Given the description of an element on the screen output the (x, y) to click on. 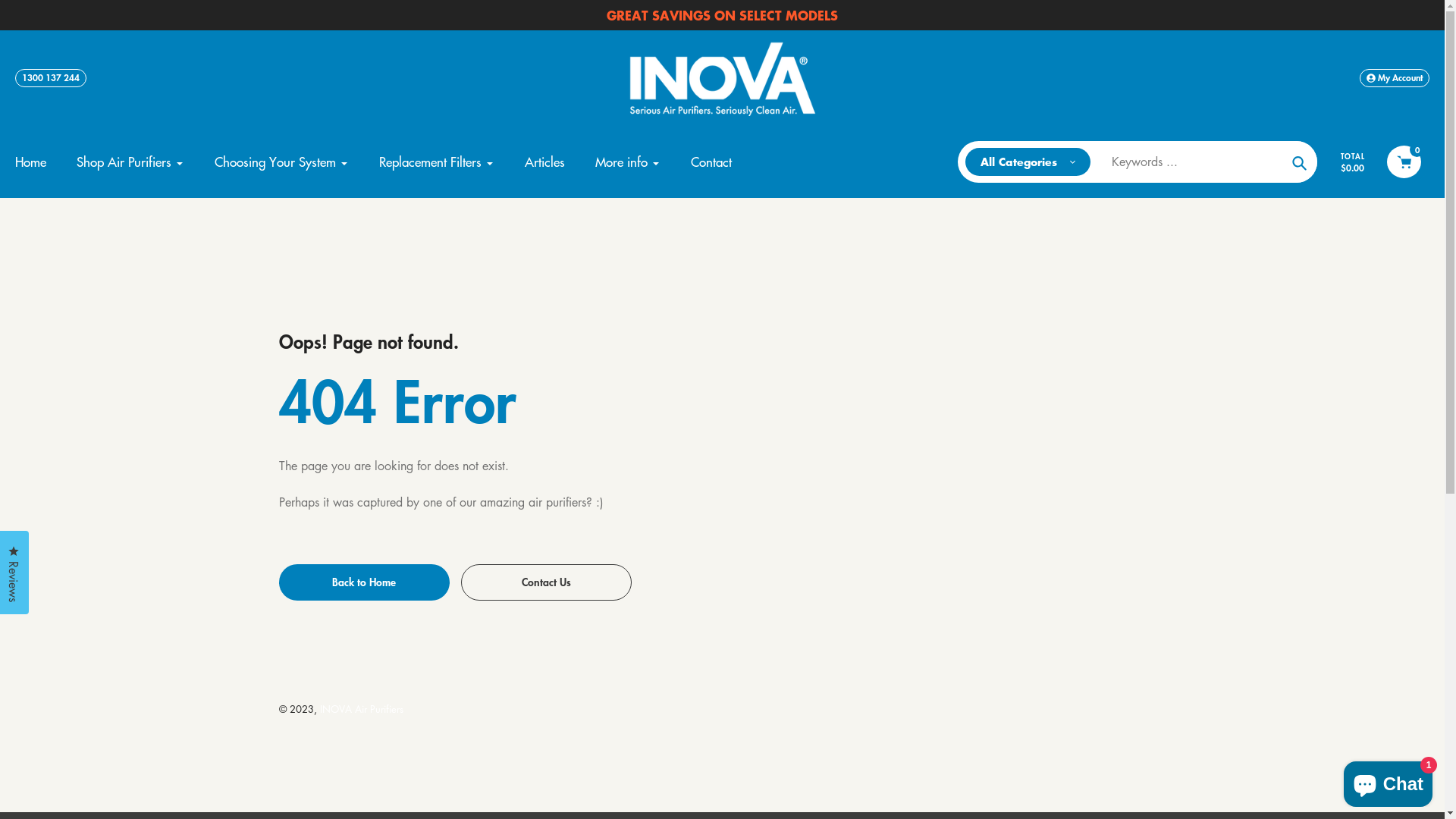
Search Element type: text (1299, 161)
Choosing Your System Element type: text (281, 162)
More info Element type: text (627, 162)
Home Element type: text (30, 162)
Replacement Filters Element type: text (436, 162)
Shopify online store chat Element type: hover (1388, 780)
Contact Element type: text (710, 162)
Back to Home Element type: text (364, 582)
0 Element type: text (1403, 161)
Shop Air Purifiers Element type: text (130, 162)
Articles Element type: text (544, 162)
All Categories Element type: text (1027, 161)
1300 137 244 Element type: text (50, 78)
BLACK FRIDAY SALE NOW ON! Element type: text (721, 15)
INOVA Air Purifiers Element type: text (361, 708)
My Account Element type: text (1394, 78)
Contact Us Element type: text (546, 582)
